Given the description of an element on the screen output the (x, y) to click on. 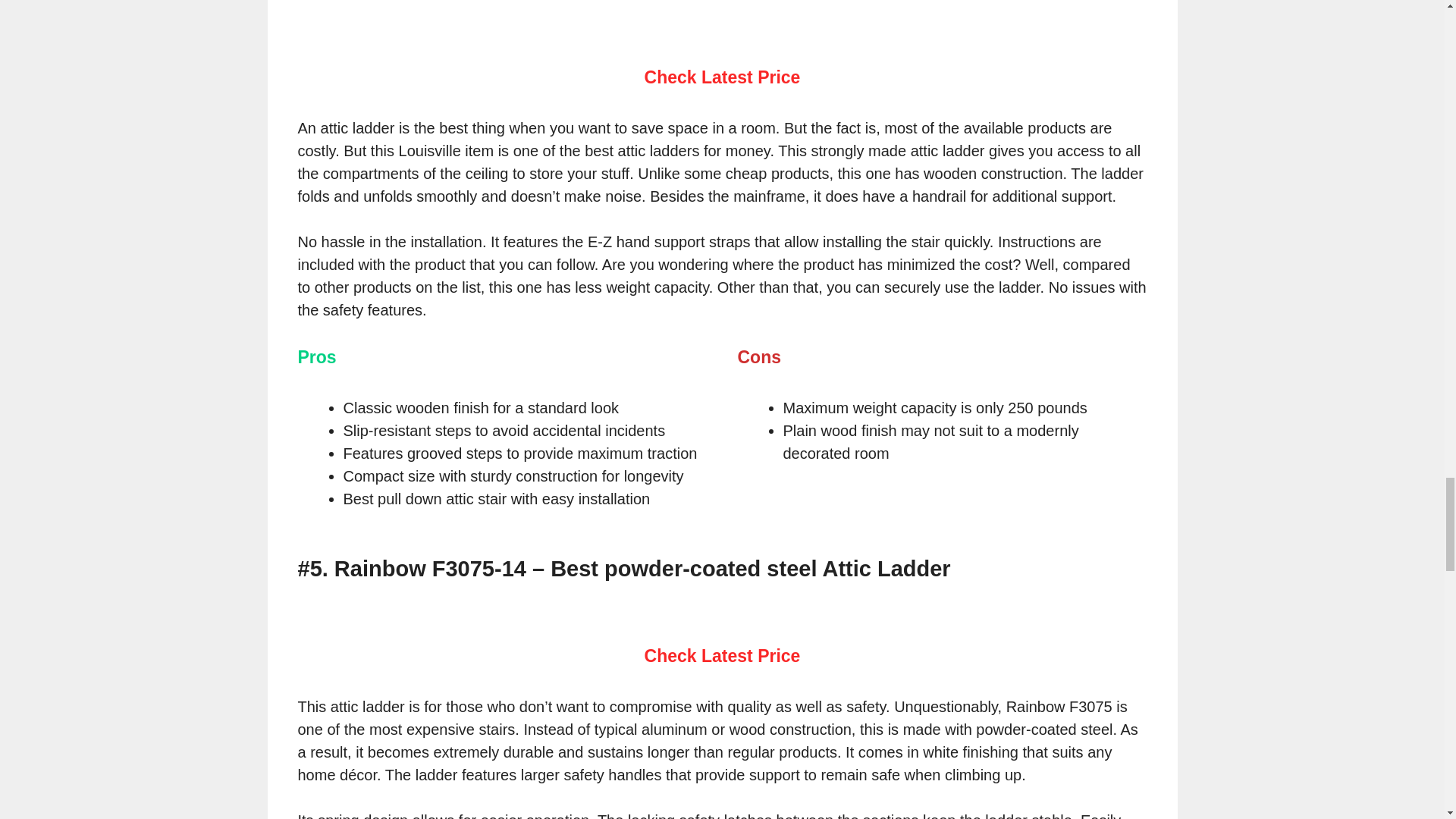
Check Latest Price (722, 655)
Check Latest Price (722, 76)
